Given the description of an element on the screen output the (x, y) to click on. 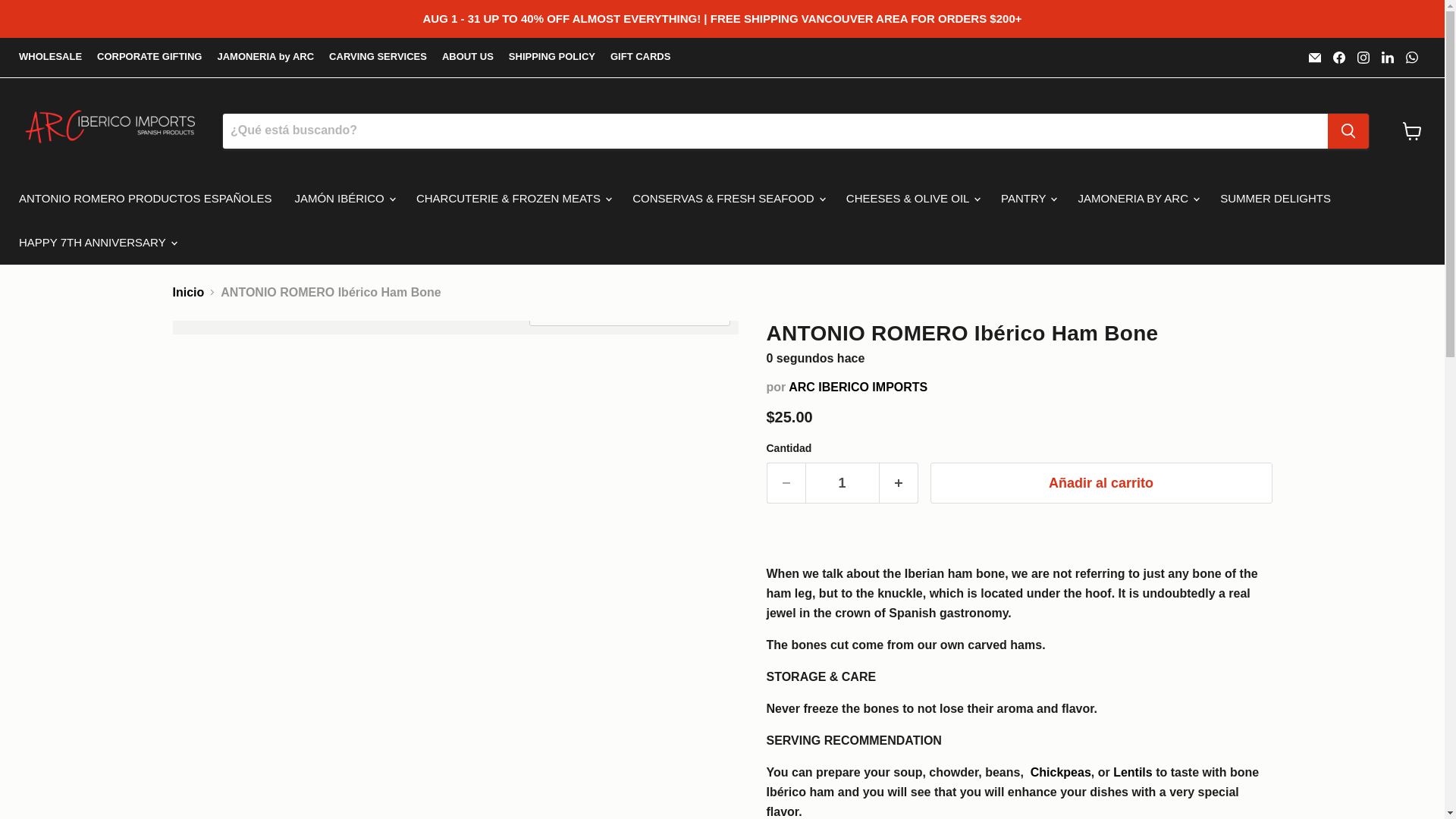
Facebook (1338, 56)
1 (842, 483)
Instagram (1363, 56)
SHIPPING POLICY (551, 57)
ARC IBERICO IMPORTS (858, 386)
LinkedIn (1387, 56)
WHOLESALE (49, 57)
CARVING SERVICES (377, 57)
WhatsApp (1411, 56)
GIFT CARDS (639, 57)
CORPORATE GIFTING (149, 57)
lentils (1133, 771)
Ver carrito (1411, 130)
JAMONERIA by ARC (265, 57)
garbanzos (1060, 771)
